Given the description of an element on the screen output the (x, y) to click on. 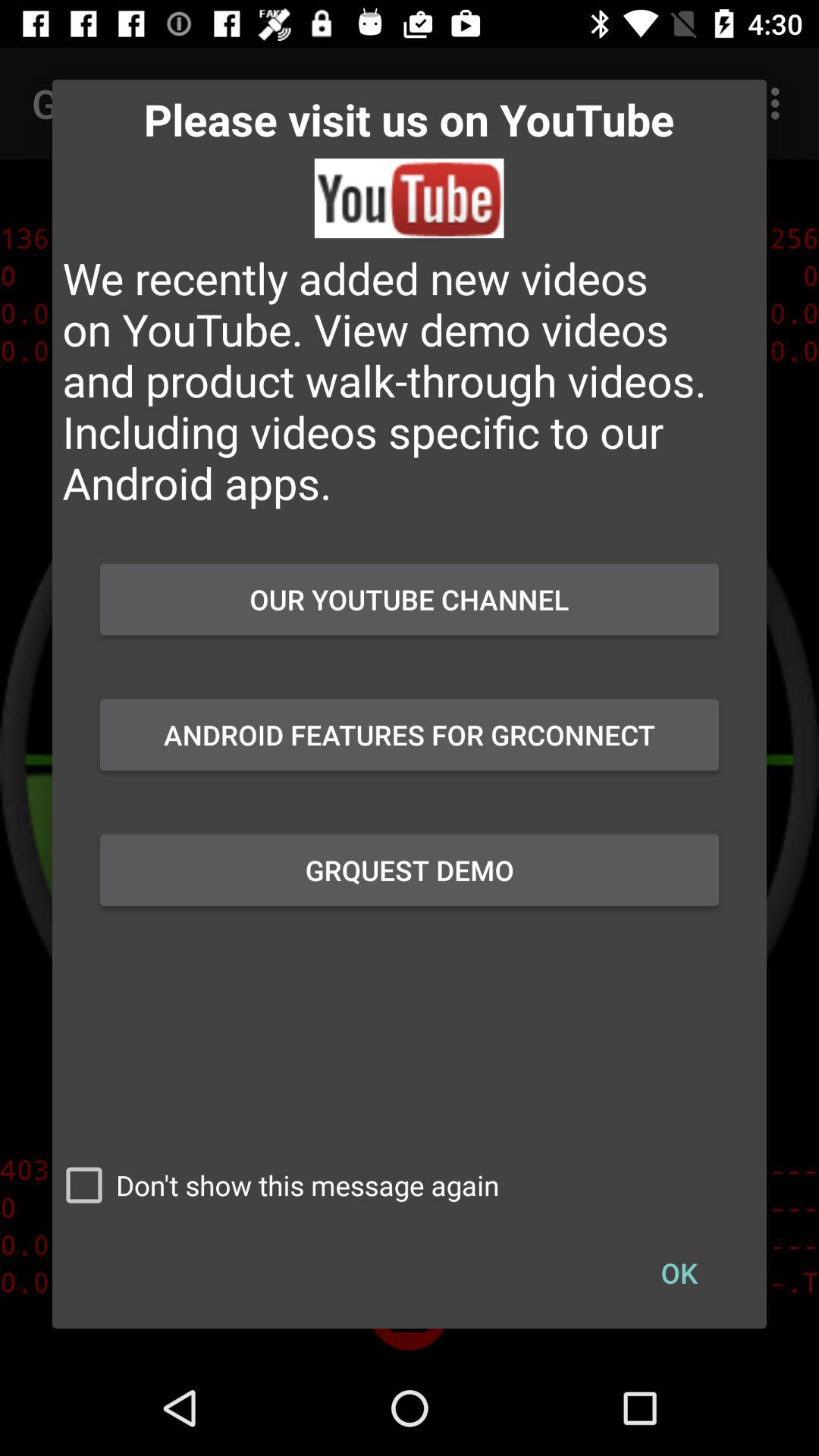
flip to the ok (678, 1272)
